Given the description of an element on the screen output the (x, y) to click on. 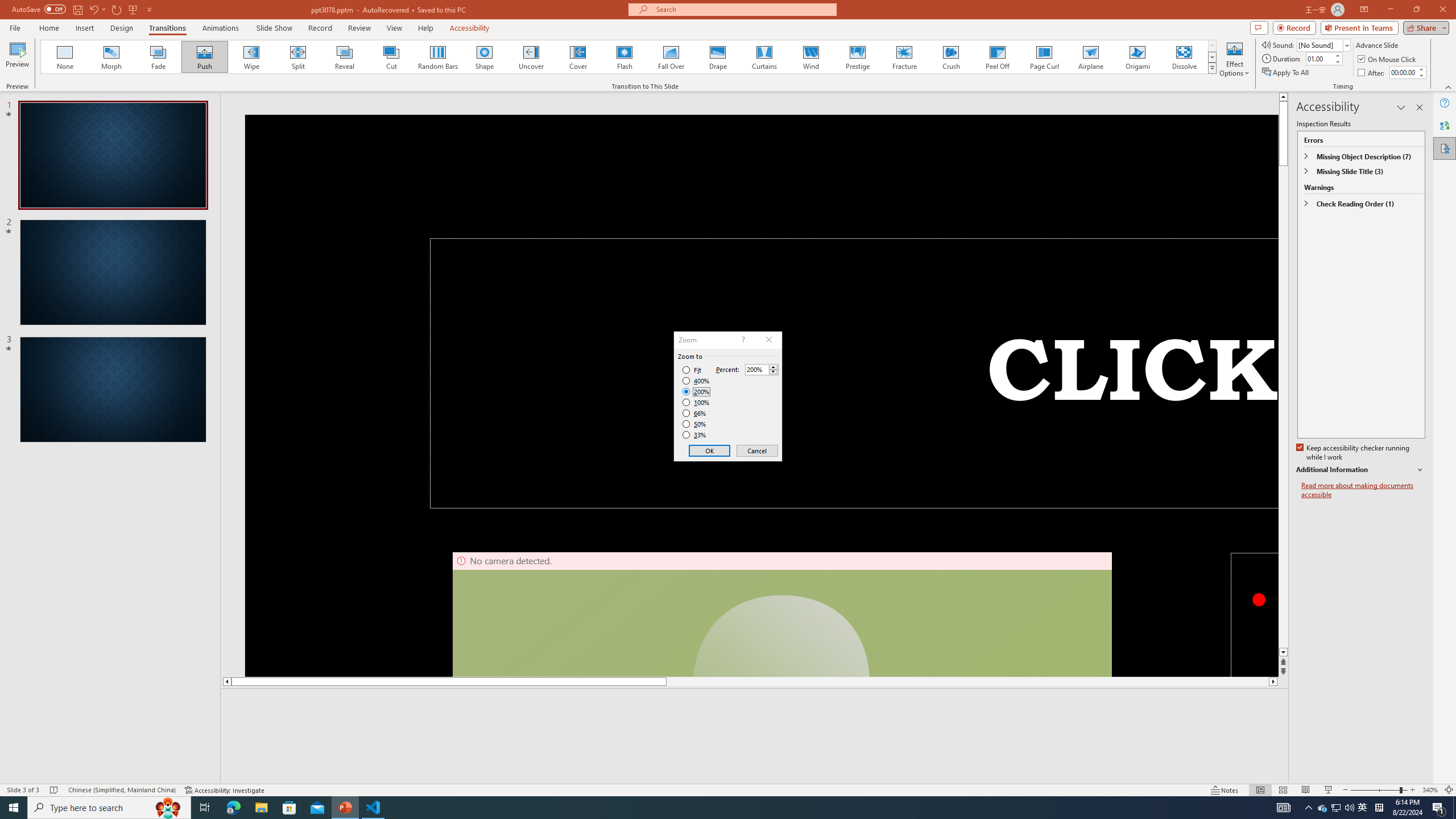
Wind (810, 56)
Peel Off (997, 56)
After (1372, 72)
Page Curl (1043, 56)
